Given the description of an element on the screen output the (x, y) to click on. 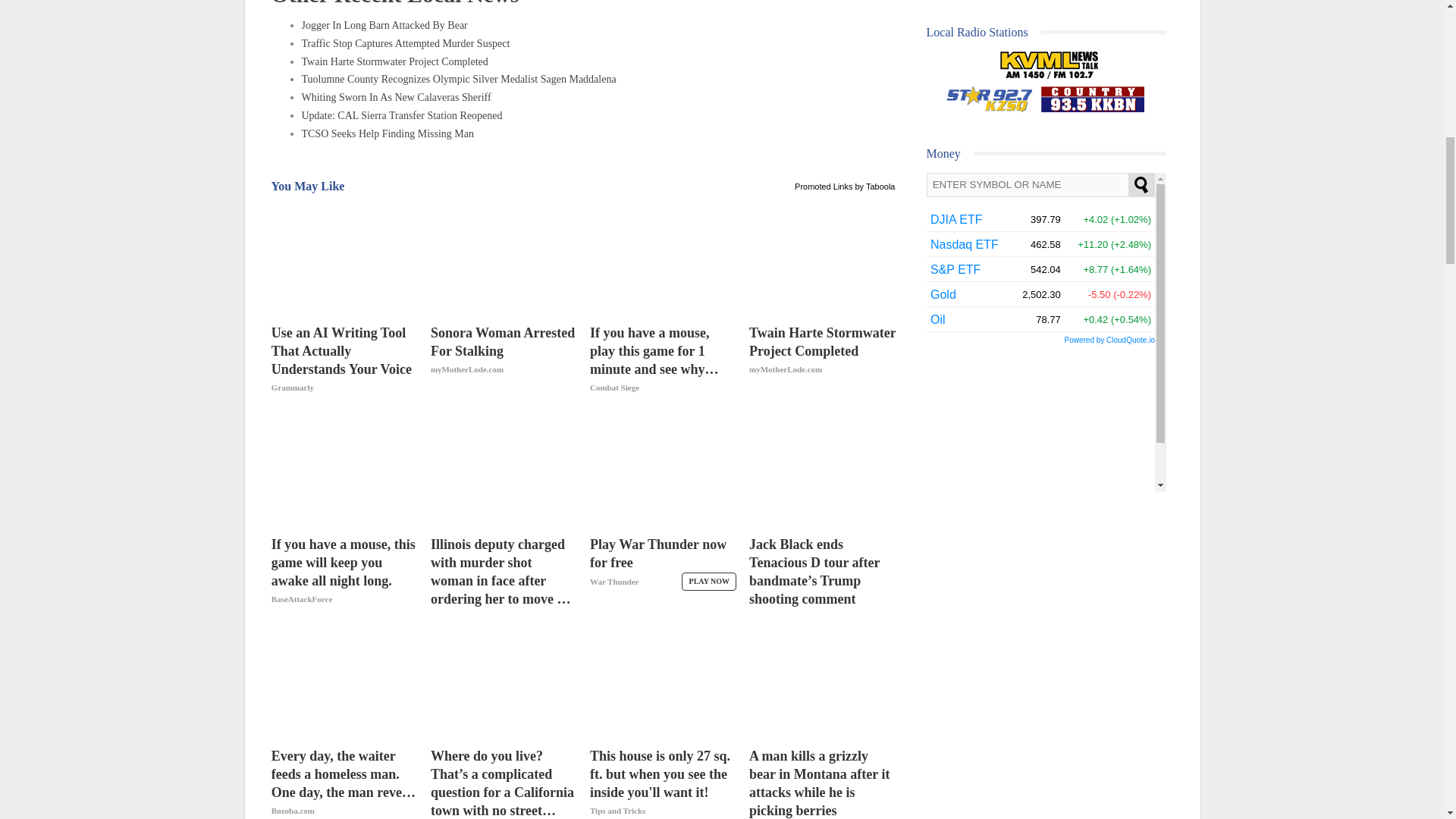
Play War Thunder now for free (662, 470)
Use an AI Writing Tool That Actually Understands Your Voice (343, 359)
Sonora Woman Arrested For Stalking (503, 259)
Play War Thunder now for free (662, 571)
Twain Harte Stormwater Project Completed (822, 359)
Sonora Woman Arrested For Stalking (503, 359)
Use an AI Writing Tool That Actually Understands Your Voice (343, 259)
